Given the description of an element on the screen output the (x, y) to click on. 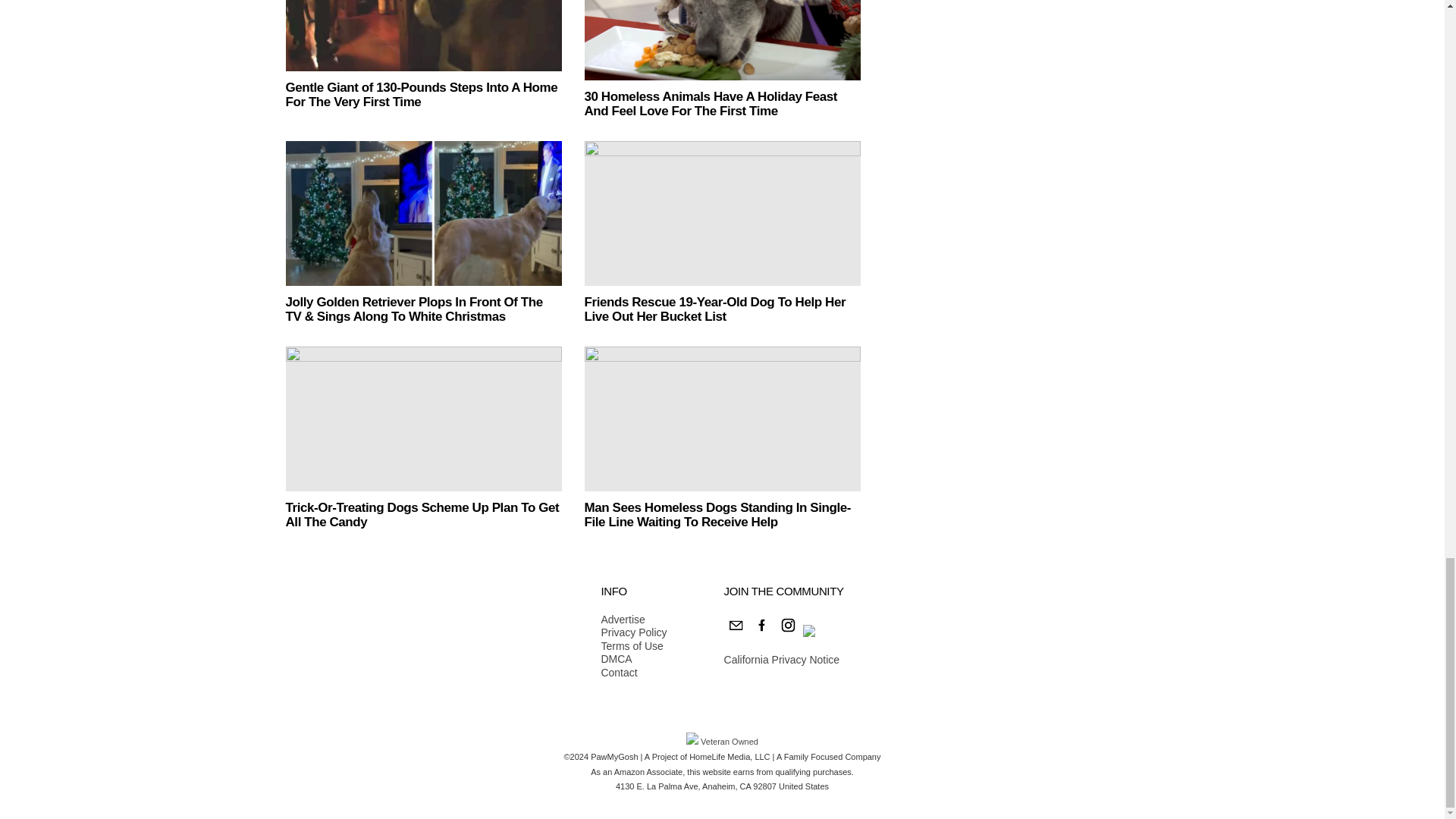
Advertise (632, 620)
Trick-Or-Treating Dogs Scheme Up Plan To Get All The Candy (422, 514)
California Privacy Notice (781, 659)
Privacy Policy (632, 632)
DMCA (632, 659)
Trick-Or-Treating Dogs Scheme Up Plan To Get All The Candy (422, 418)
Contact (632, 673)
HomeLife Media, LLC (729, 756)
